Given the description of an element on the screen output the (x, y) to click on. 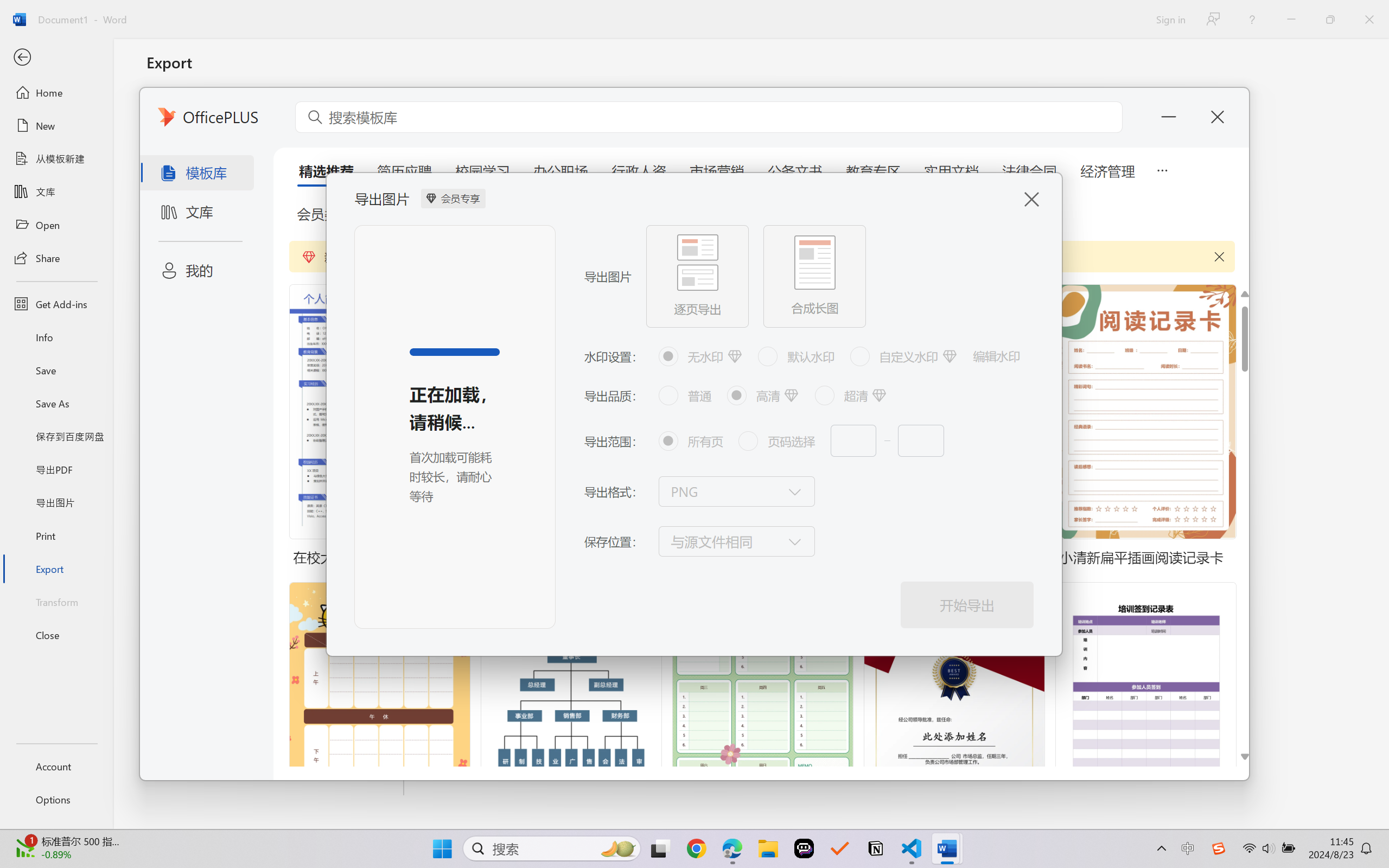
Account (56, 765)
Options (56, 798)
